Given the description of an element on the screen output the (x, y) to click on. 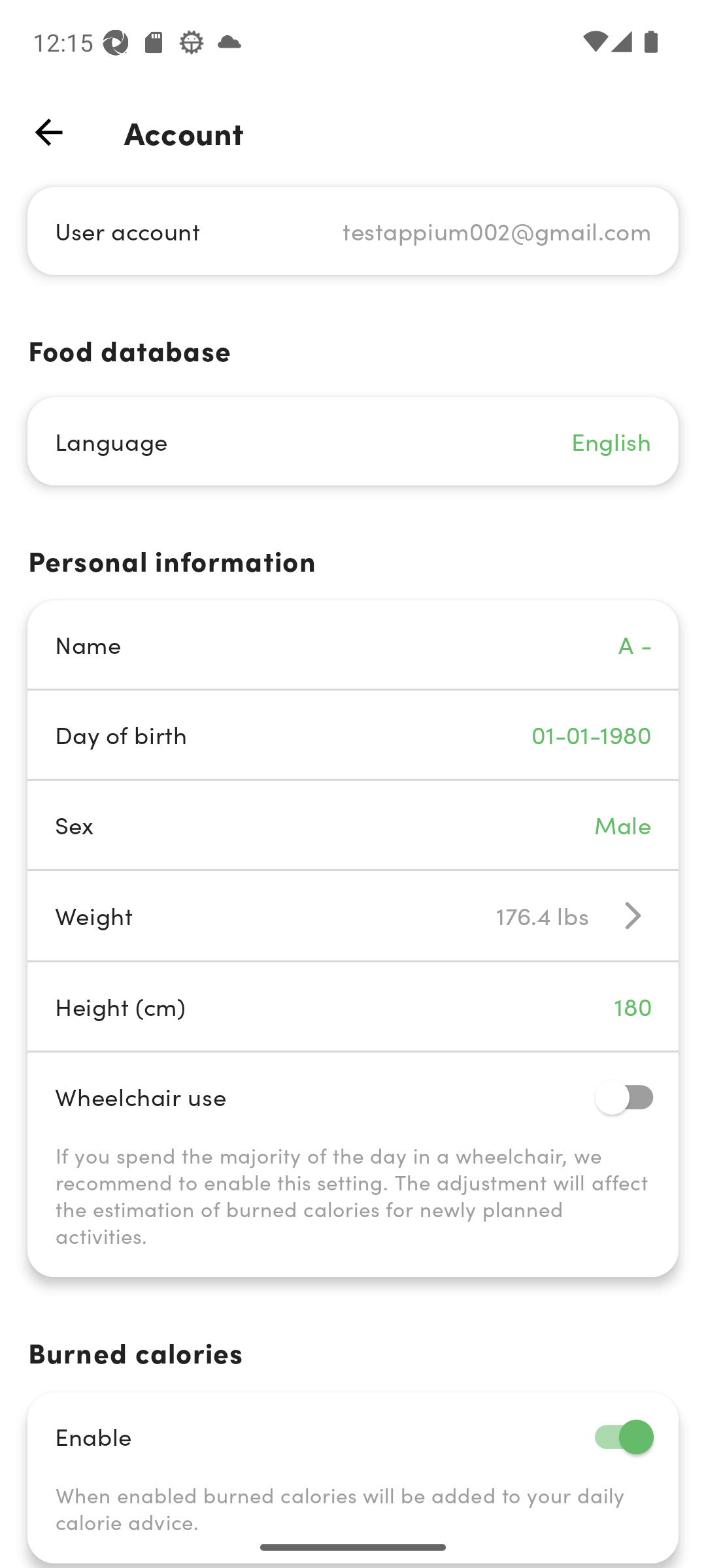
top_left_action (48, 132)
User account testappium002@gmail.com (352, 230)
Language English (352, 441)
Name A - (352, 644)
Day of birth 01-01-1980 (352, 734)
Sex Male (352, 824)
Weight 176.4 lbs (352, 914)
Height (cm) 180 (352, 1006)
Wheelchair use (352, 1096)
Enable (352, 1436)
